Given the description of an element on the screen output the (x, y) to click on. 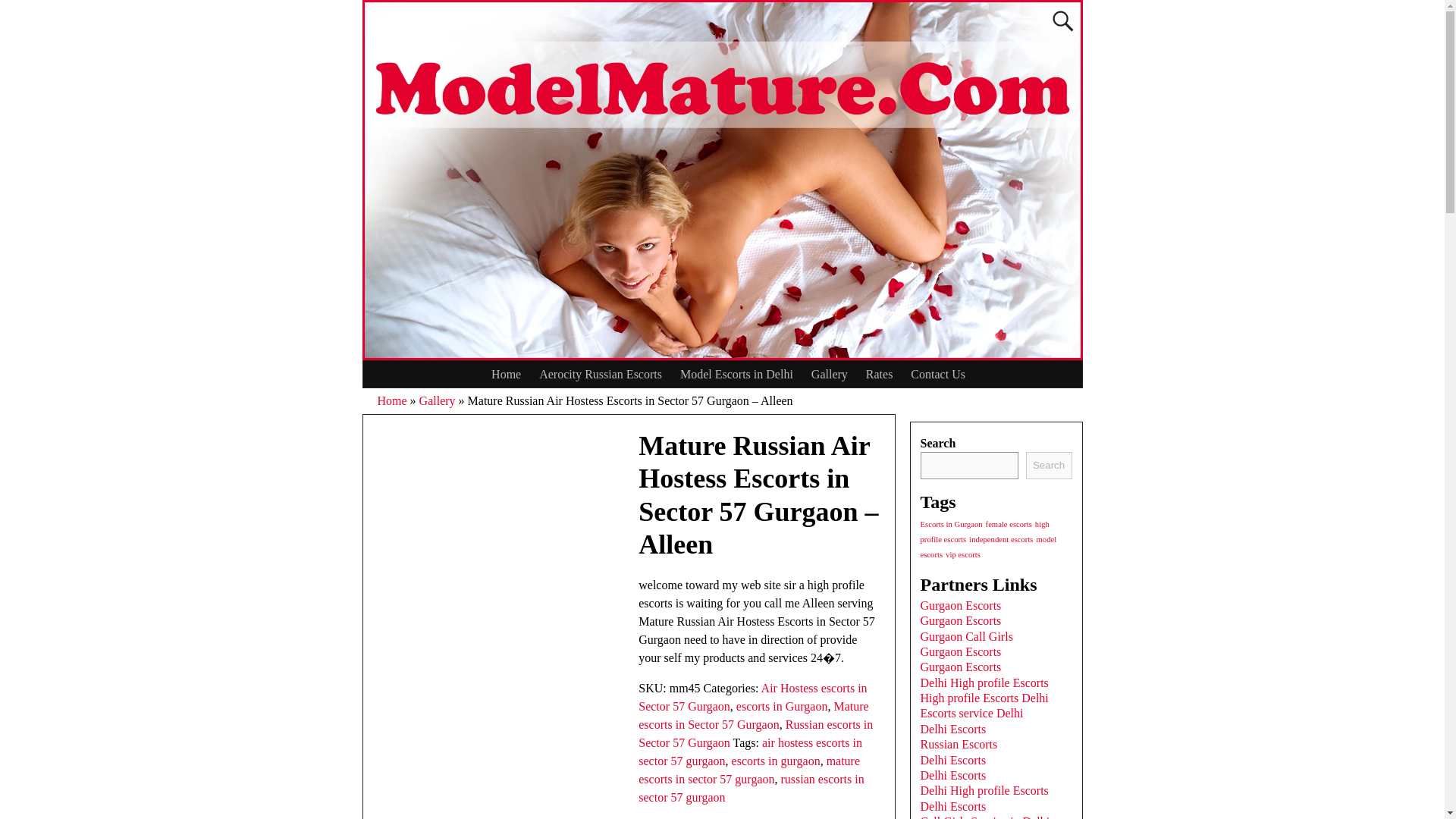
russian escorts in sector 57 gurgaon (751, 788)
air hostess escorts in sector 57 gurgaon (750, 751)
escorts in Gurgaon (782, 706)
Aerocity Russian Escorts (600, 374)
Mature escorts in Sector 57 Gurgaon (753, 715)
Home (392, 400)
Russian escorts in Sector 57 Gurgaon (755, 733)
mature escorts in sector 57 gurgaon (749, 769)
Air Hostess escorts in Sector 57 Gurgaon (752, 696)
Model Escorts in Delhi (736, 374)
